Given the description of an element on the screen output the (x, y) to click on. 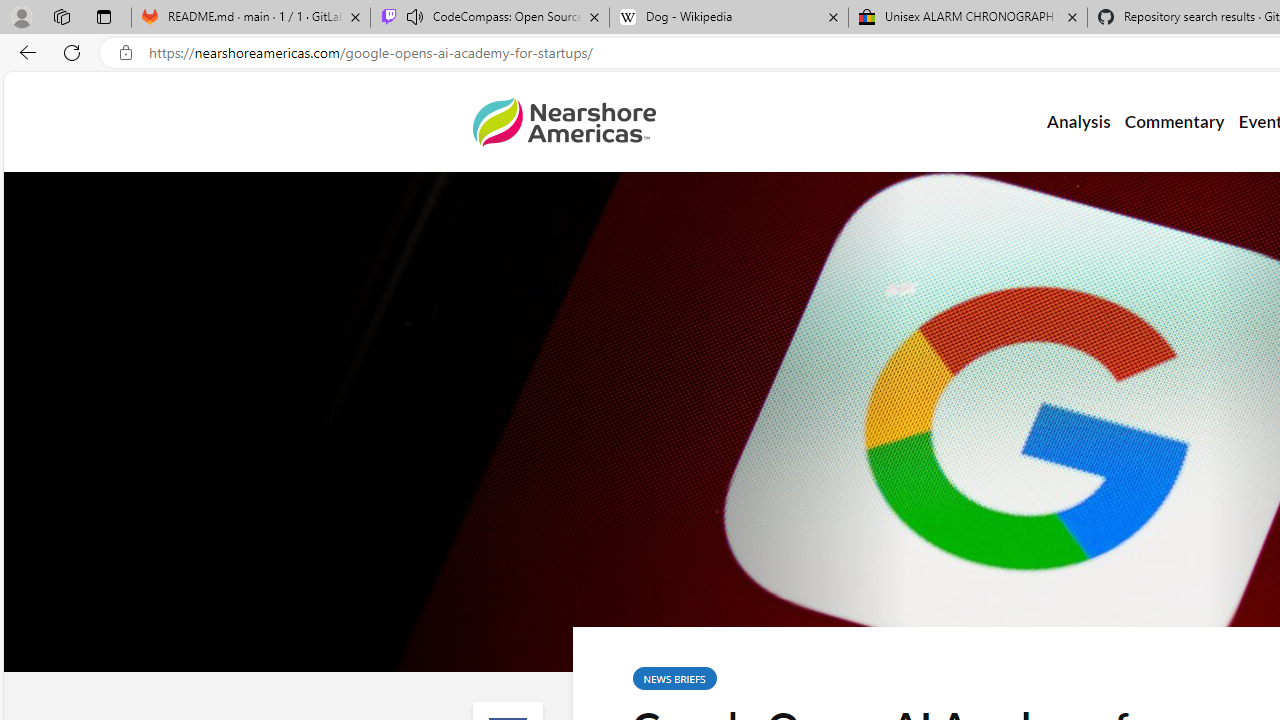
Commentary (1174, 121)
NEWS BRIEFS (674, 677)
Personal Profile (21, 16)
Close tab (1072, 16)
Tab actions menu (104, 16)
View site information (125, 53)
Back (24, 52)
Analysis (1078, 121)
Nearshore Americas (563, 121)
Analysis (1078, 121)
Mute tab (414, 16)
Workspaces (61, 16)
